Given the description of an element on the screen output the (x, y) to click on. 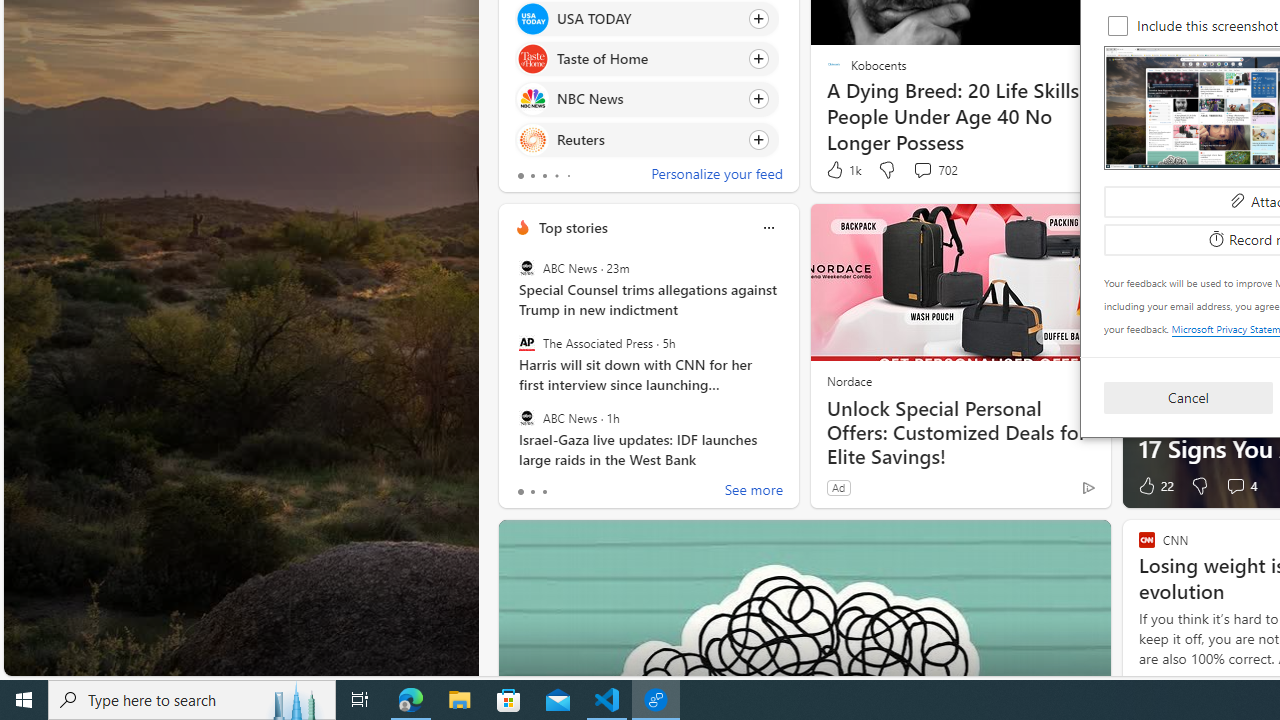
tab-4 (567, 175)
Top stories (572, 227)
tab-2 (543, 491)
Include this screenshot (1117, 25)
Search highlights icon opens search home window (295, 699)
USA TODAY (532, 18)
NBC News (532, 98)
1k Like (842, 170)
Personalize your feed (716, 175)
Start (24, 699)
Task View (359, 699)
Reuters (532, 139)
